Given the description of an element on the screen output the (x, y) to click on. 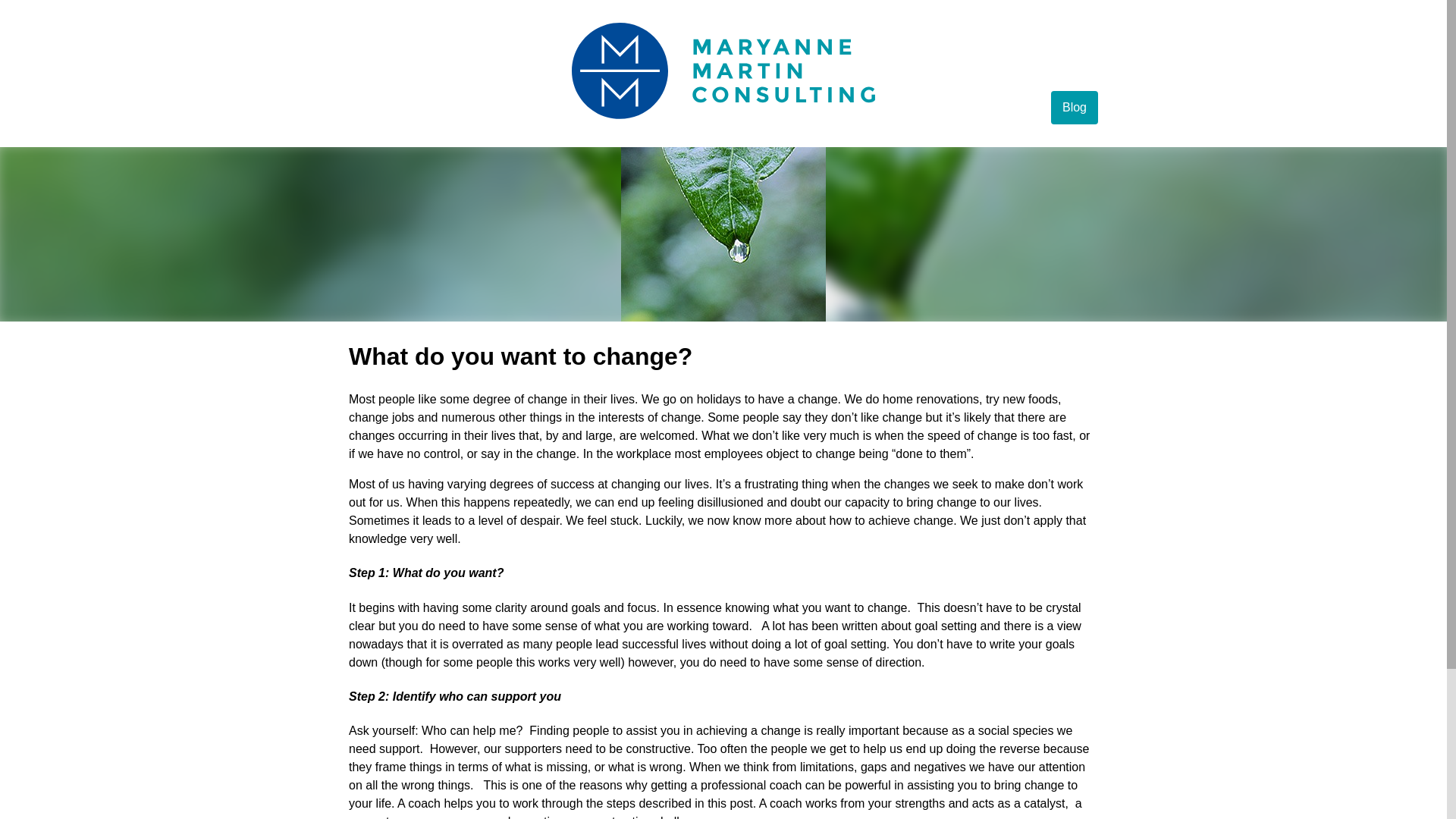
Blog Element type: text (1074, 107)
